Given the description of an element on the screen output the (x, y) to click on. 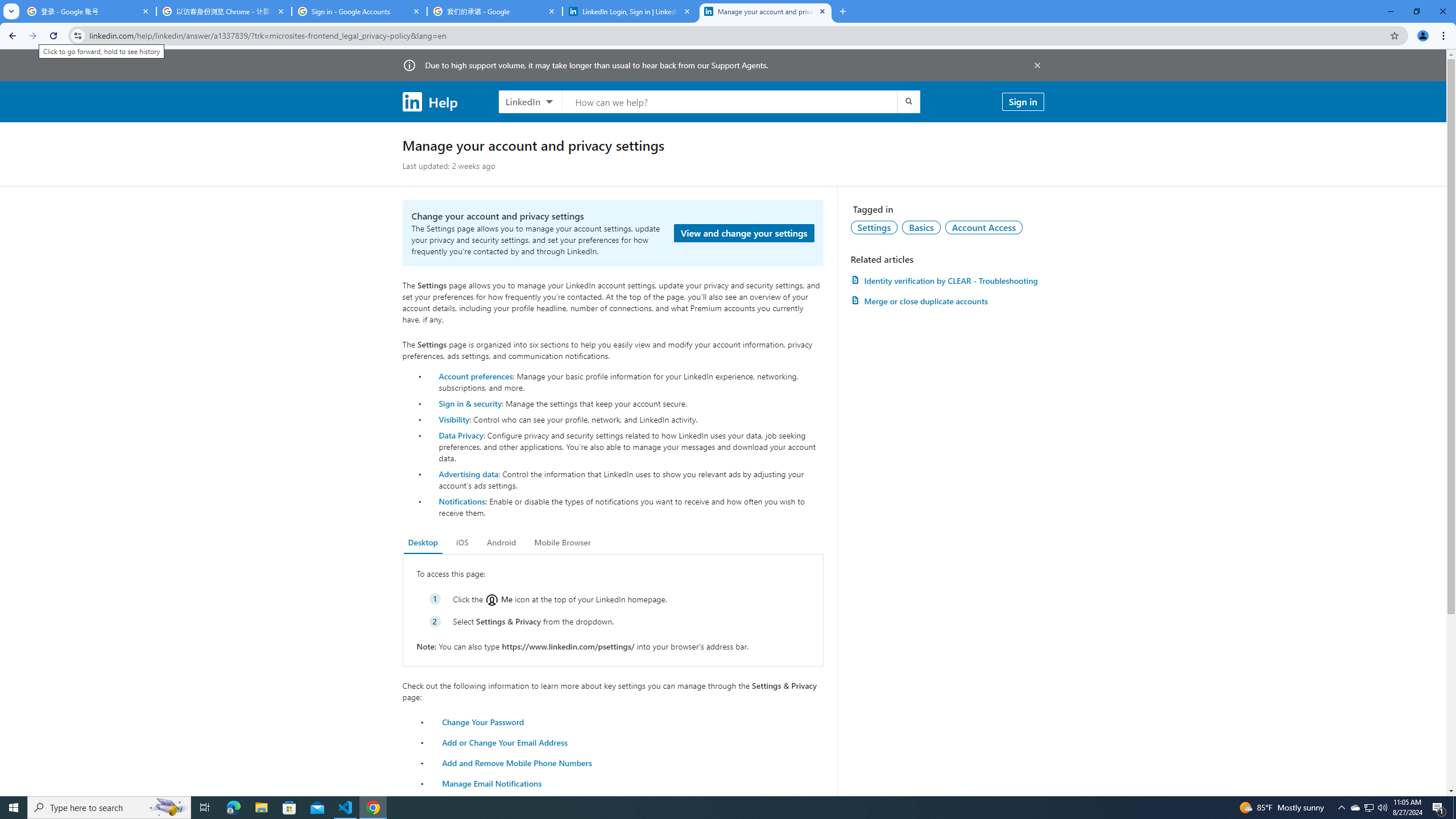
LinkedIn Login, Sign in | LinkedIn (630, 11)
Change Your Password (483, 721)
Sign in - Google Accounts (359, 11)
AutomationID: article-link-a1337200 (946, 300)
AutomationID: article-link-a1457505 (946, 280)
Sign in & security (470, 402)
Desktop (422, 542)
iOS (462, 542)
Manage Email Notifications (491, 782)
Settings (874, 227)
